Given the description of an element on the screen output the (x, y) to click on. 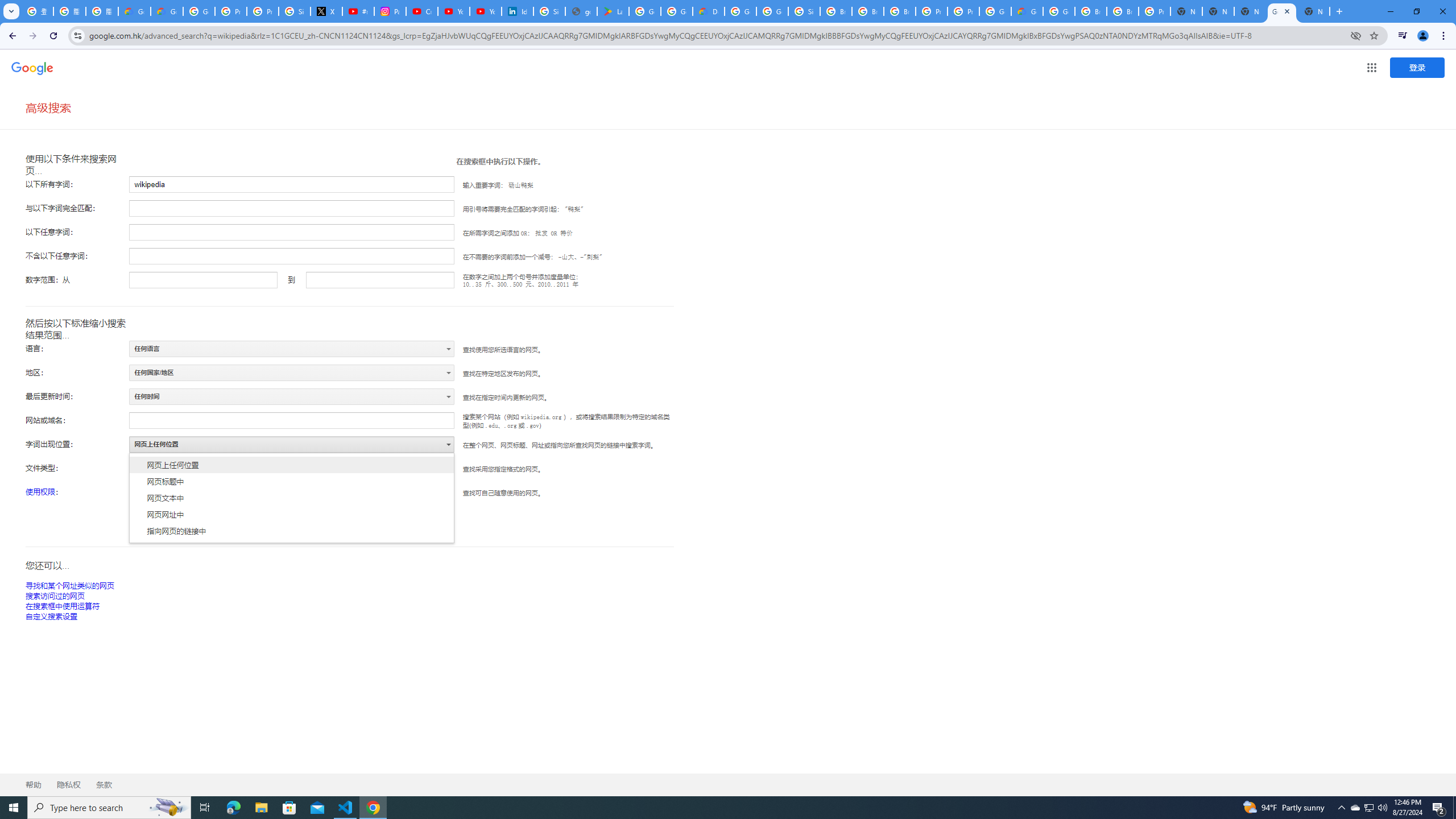
Sign in - Google Accounts (294, 11)
google_privacy_policy_en.pdf (581, 11)
New Tab (1185, 11)
Privacy Help Center - Policies Help (262, 11)
YouTube Culture & Trends - YouTube Top 10, 2021 (485, 11)
